Given the description of an element on the screen output the (x, y) to click on. 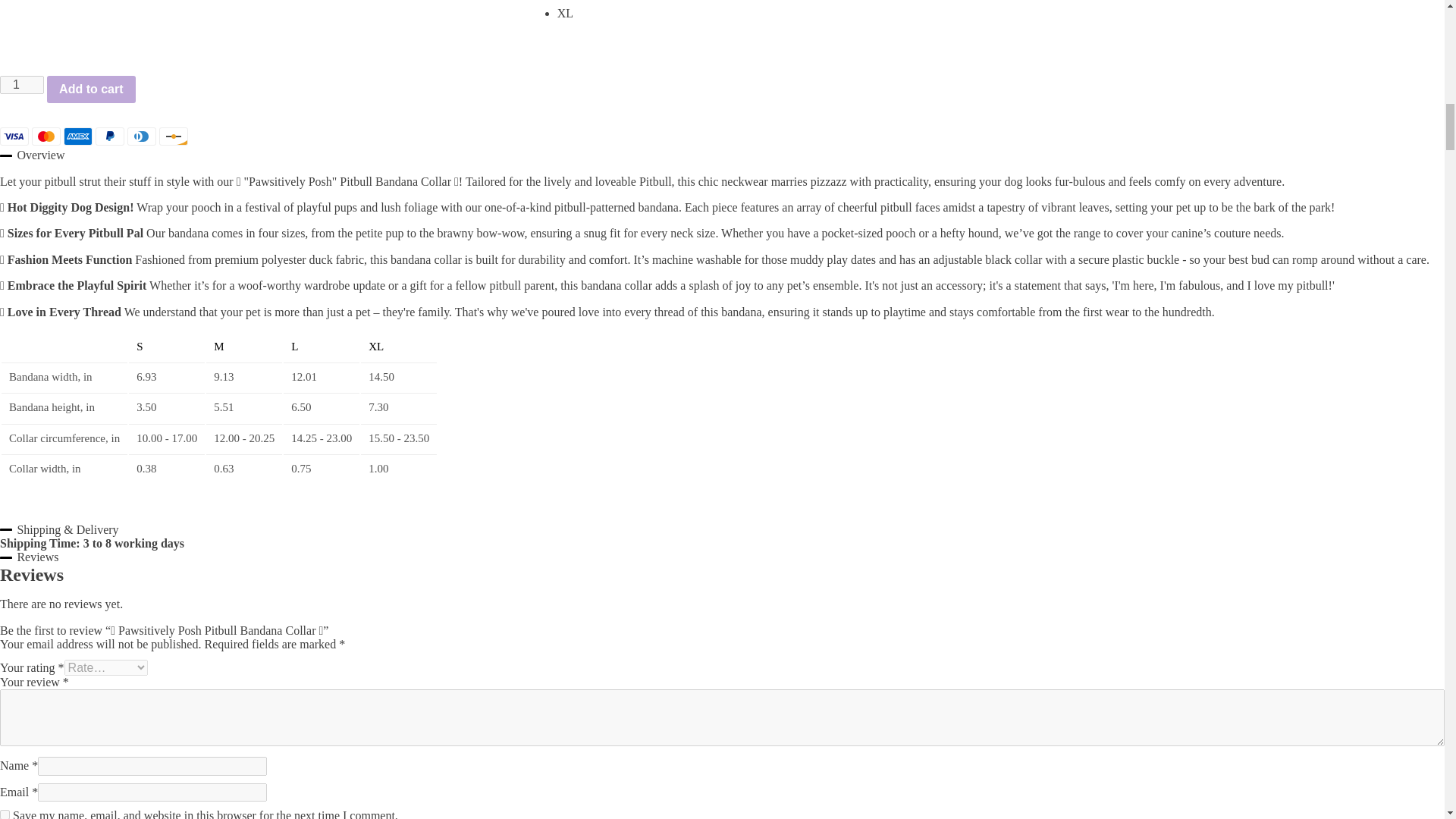
yes (5, 814)
XL (1000, 13)
Diners Club (141, 136)
Visa (14, 136)
1 (21, 85)
Mastercard (46, 136)
American Express (78, 136)
Add to cart (90, 89)
Discover (172, 136)
